Given the description of an element on the screen output the (x, y) to click on. 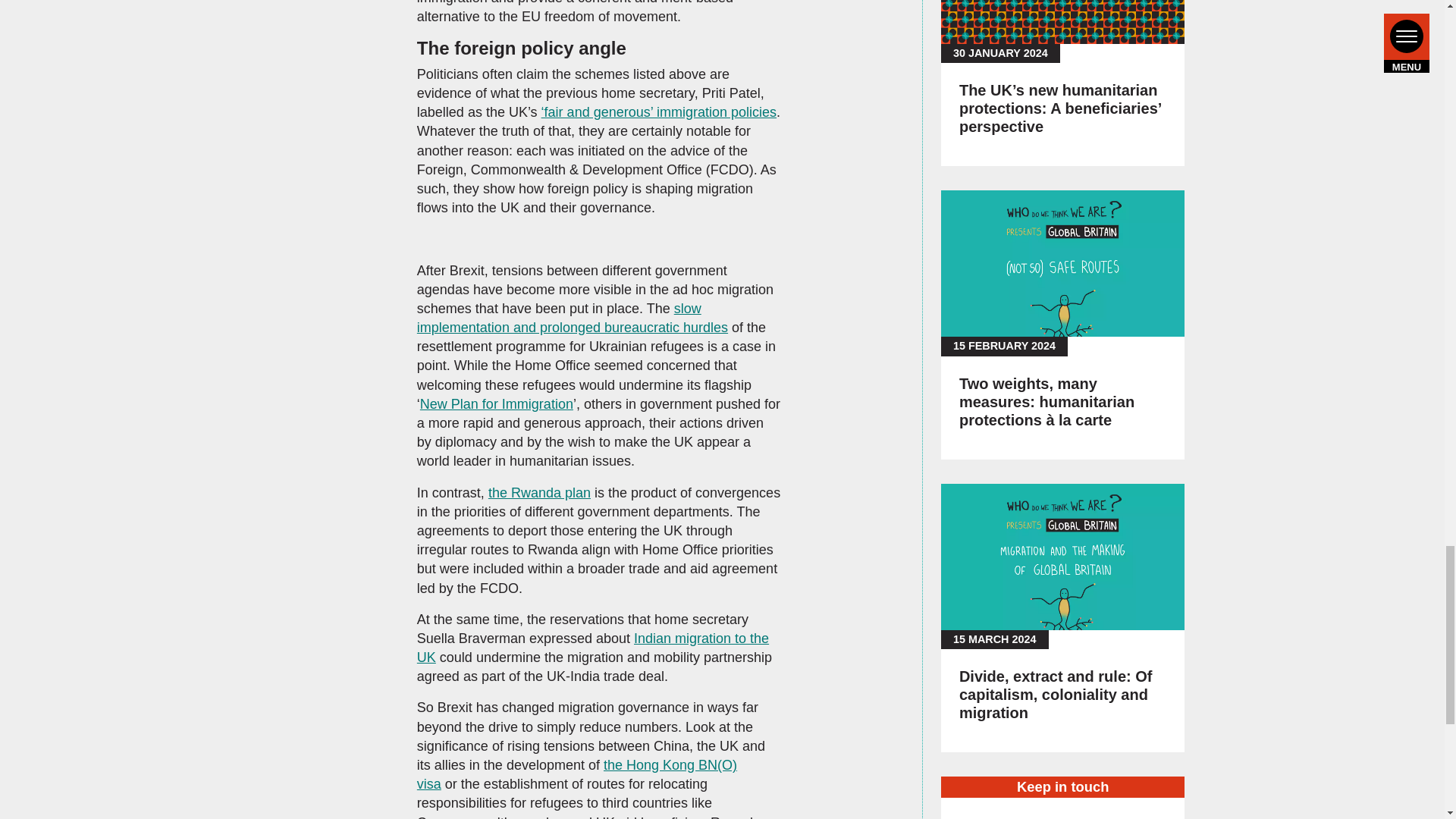
Indian migration to the UK (592, 647)
New Plan for Immigration (496, 403)
slow implementation and prolonged bureaucratic hurdles (572, 317)
the Rwanda plan (539, 492)
